Given the description of an element on the screen output the (x, y) to click on. 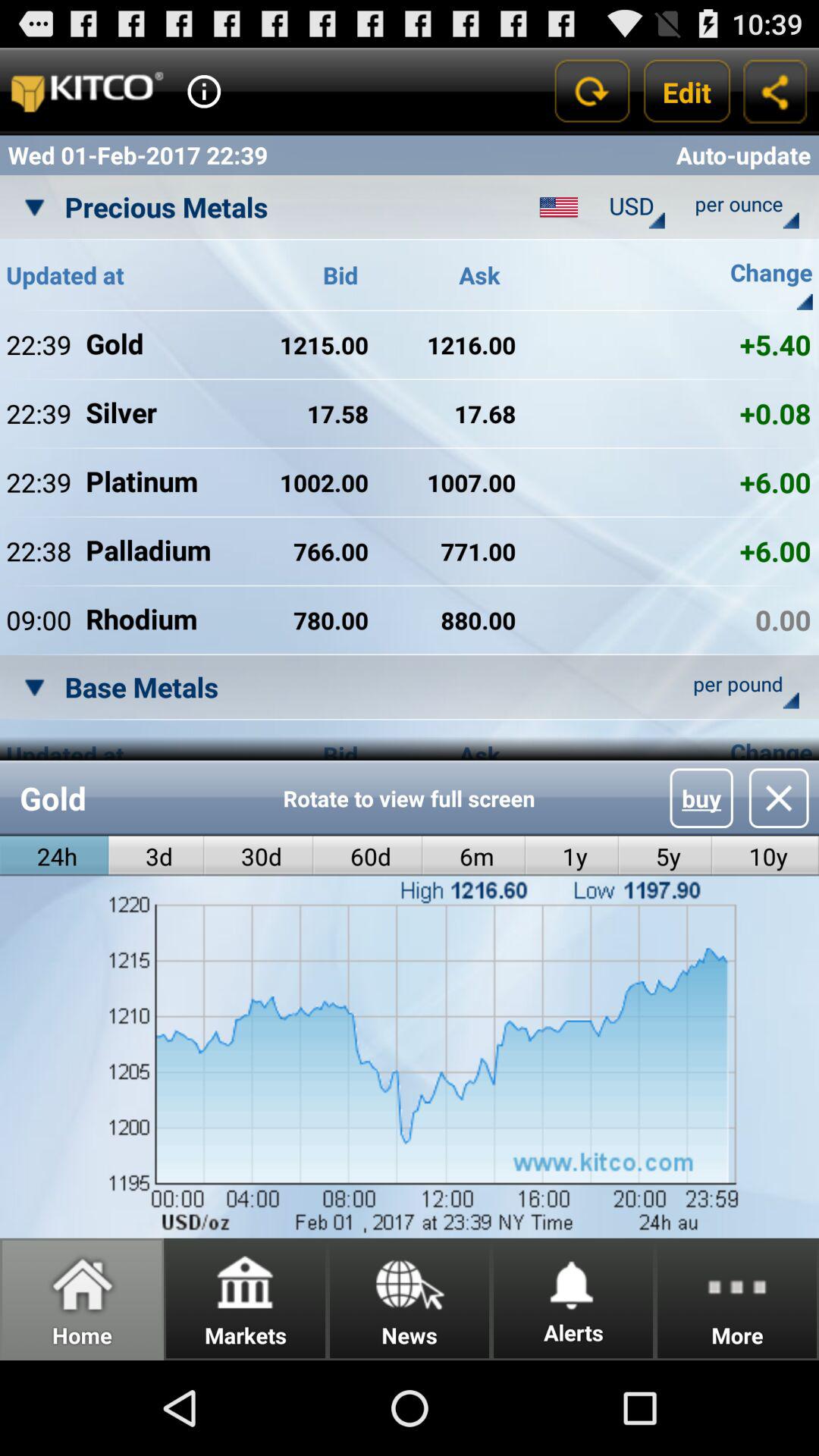
swipe to 30d radio button (258, 856)
